Given the description of an element on the screen output the (x, y) to click on. 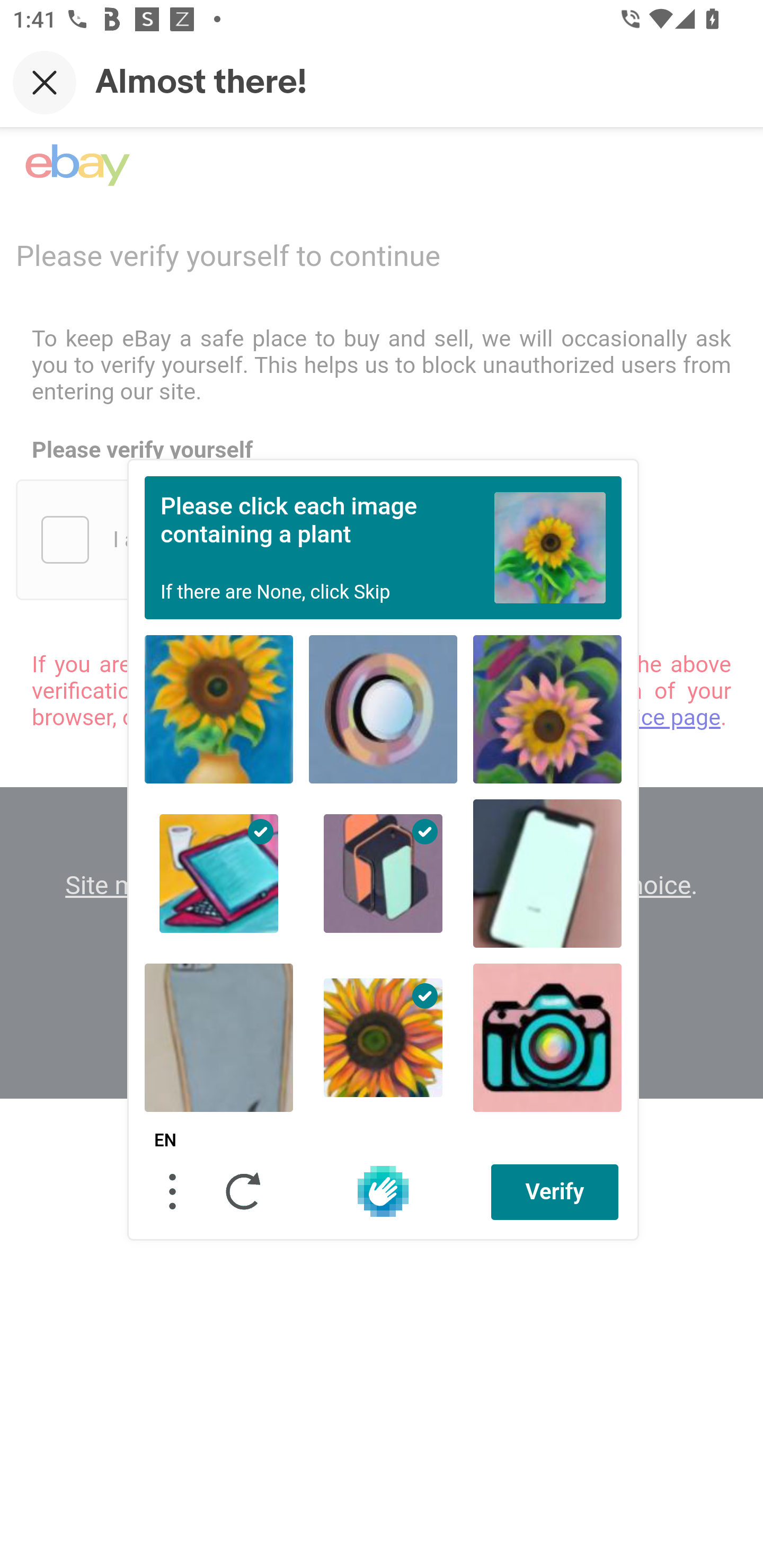
Close (44, 82)
Example image 1 (549, 546)
Challenge Image 1 (218, 708)
Challenge Image 2 (382, 708)
Challenge Image 3 (546, 708)
Challenge Image 4 (218, 873)
Challenge Image 5 (382, 873)
Challenge Image 6 (546, 873)
Challenge Image 7 (218, 1036)
Challenge Image 8 (382, 1036)
Challenge Image 9 (546, 1036)
Select a language English EN English (165, 1140)
Verify Answers (554, 1191)
Refresh Challenge. (243, 1190)
hCaptcha (382, 1190)
